Given the description of an element on the screen output the (x, y) to click on. 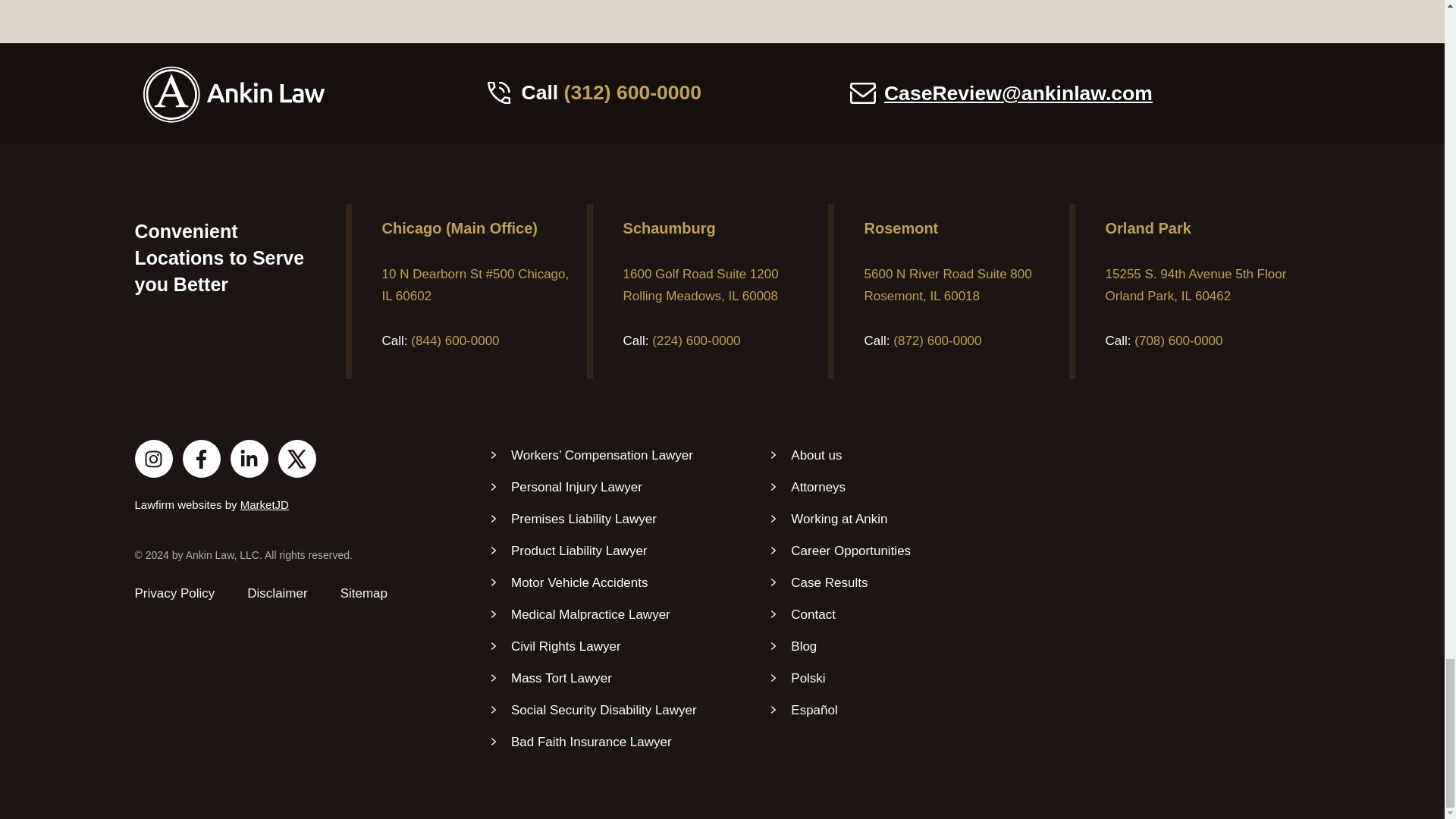
Ankin Law (1135, 553)
